Given the description of an element on the screen output the (x, y) to click on. 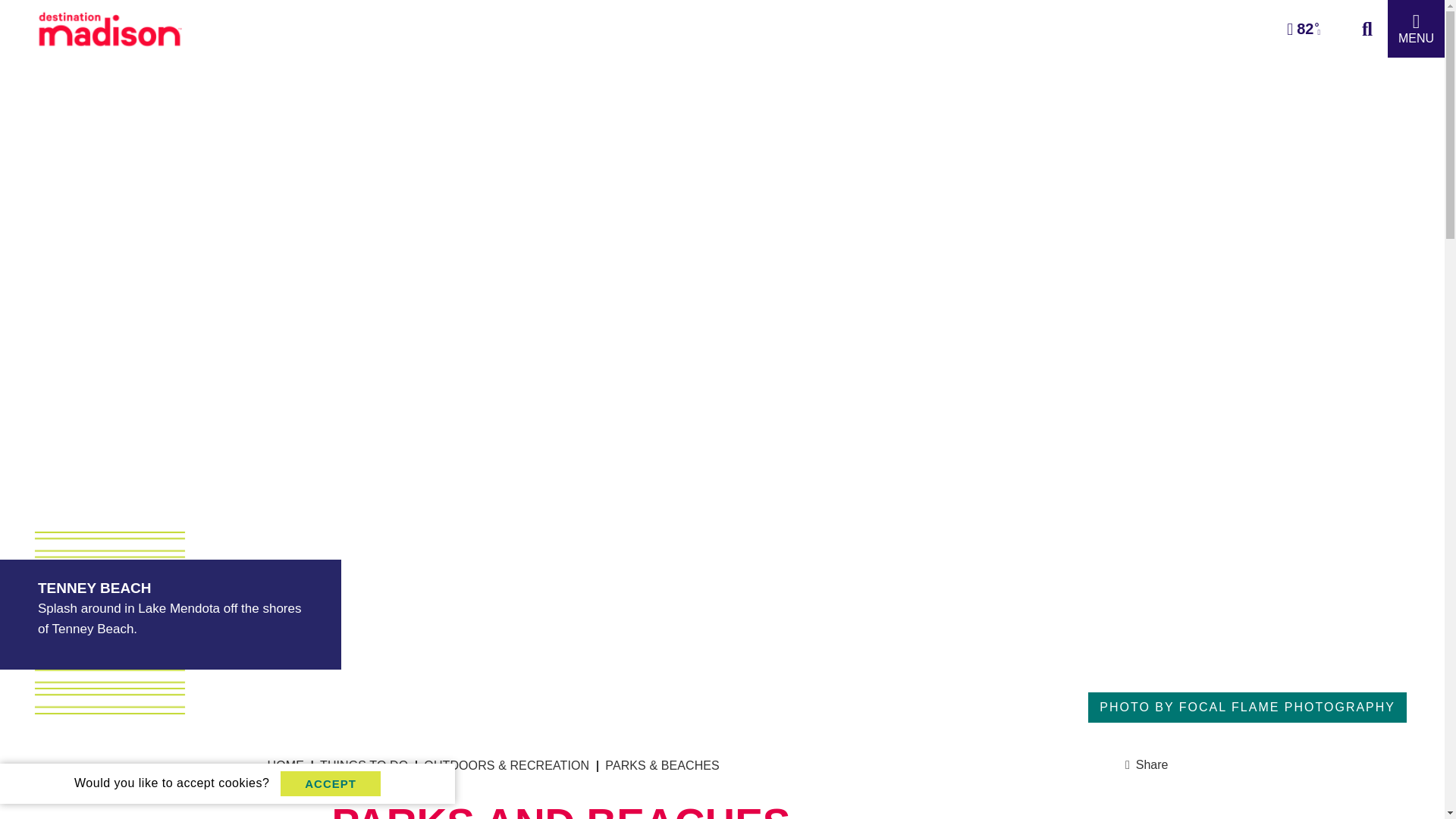
Share (1146, 764)
